Given the description of an element on the screen output the (x, y) to click on. 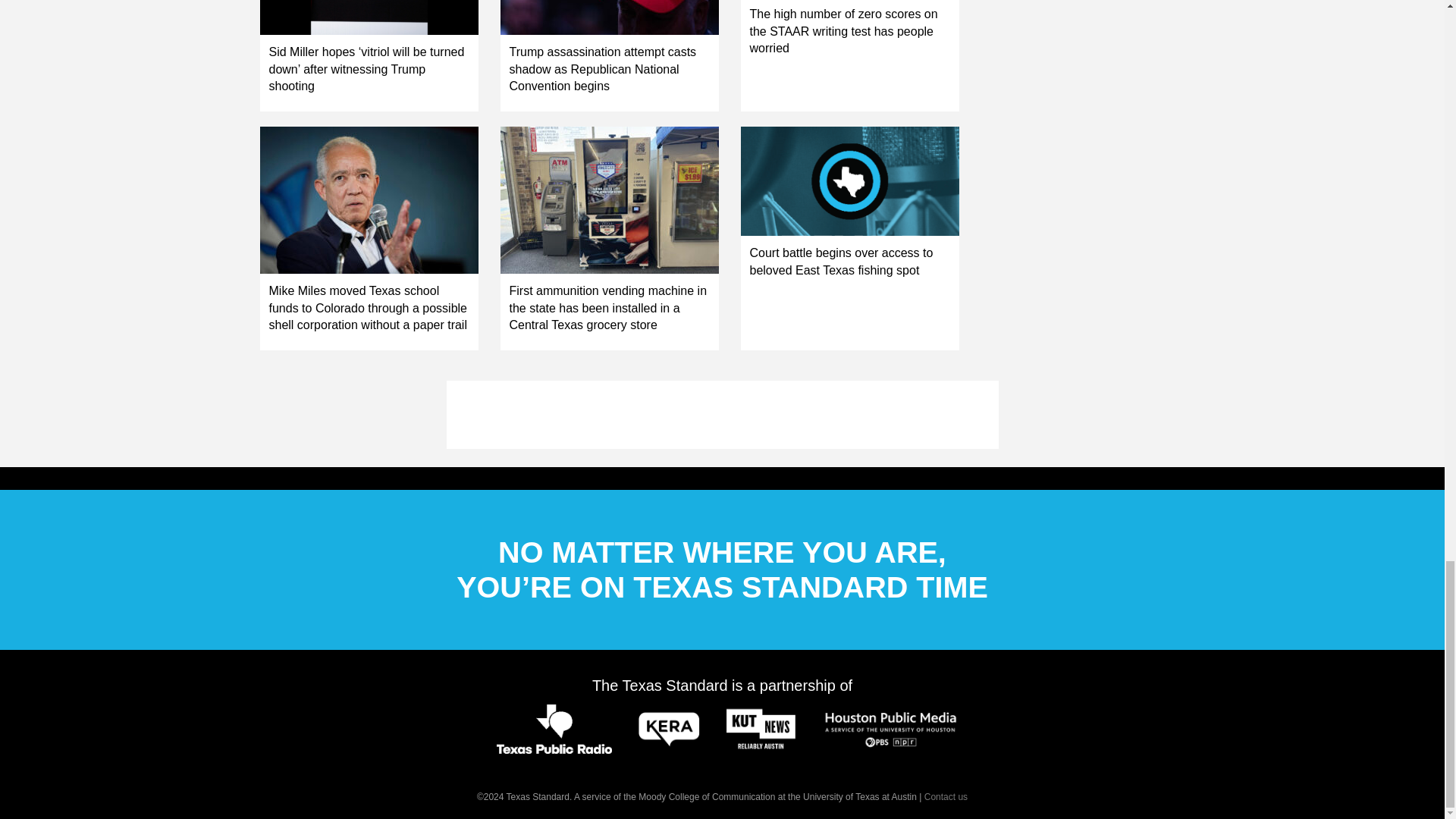
3rd party ad content (721, 414)
